Given the description of an element on the screen output the (x, y) to click on. 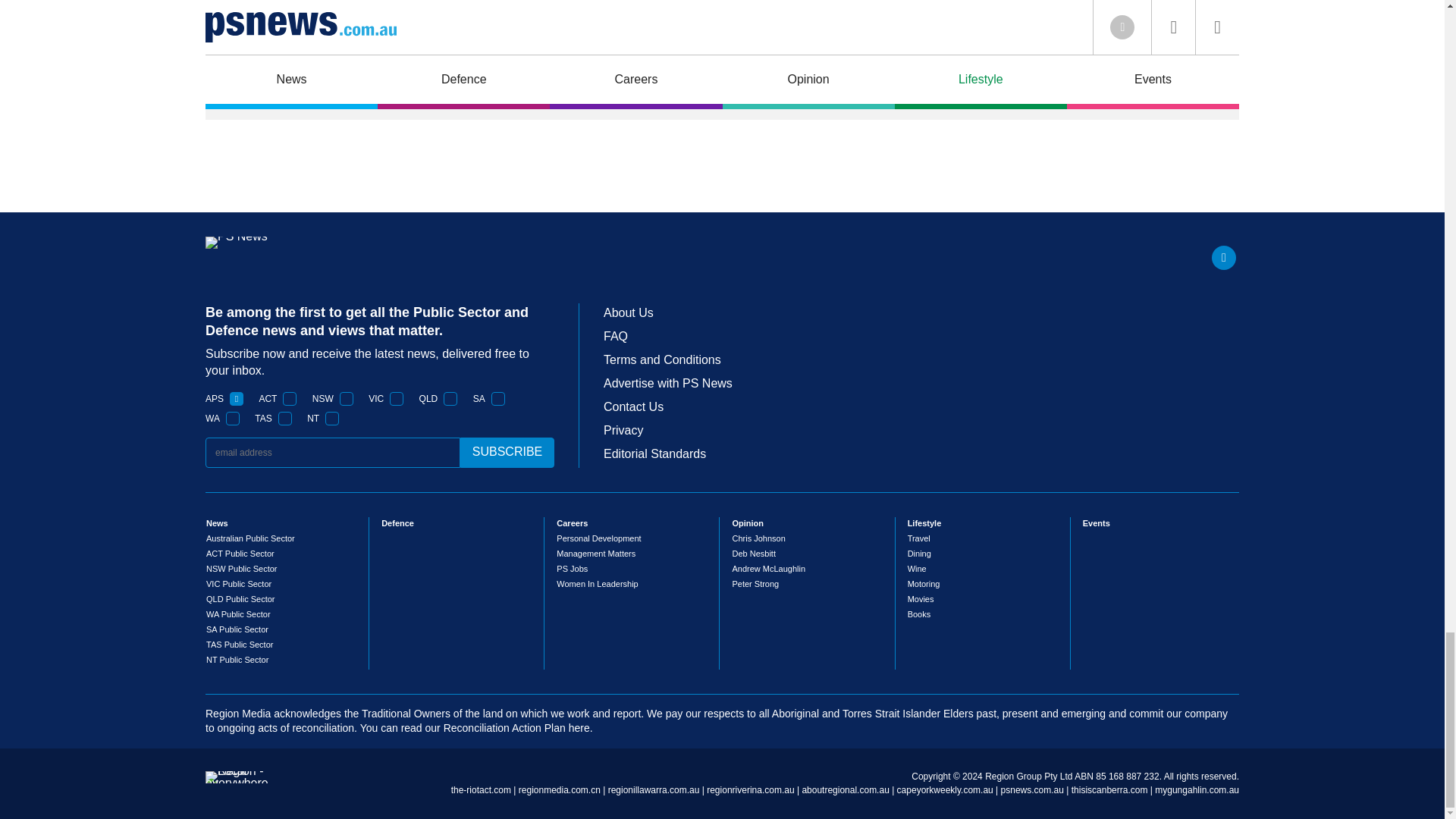
Region - Local everywhere (236, 783)
1 (450, 398)
1 (331, 418)
1 (346, 398)
LinkedIn (1223, 257)
1 (289, 398)
subscribe (507, 452)
1 (498, 398)
1 (236, 398)
1 (396, 398)
1 (232, 418)
1 (285, 418)
